Given the description of an element on the screen output the (x, y) to click on. 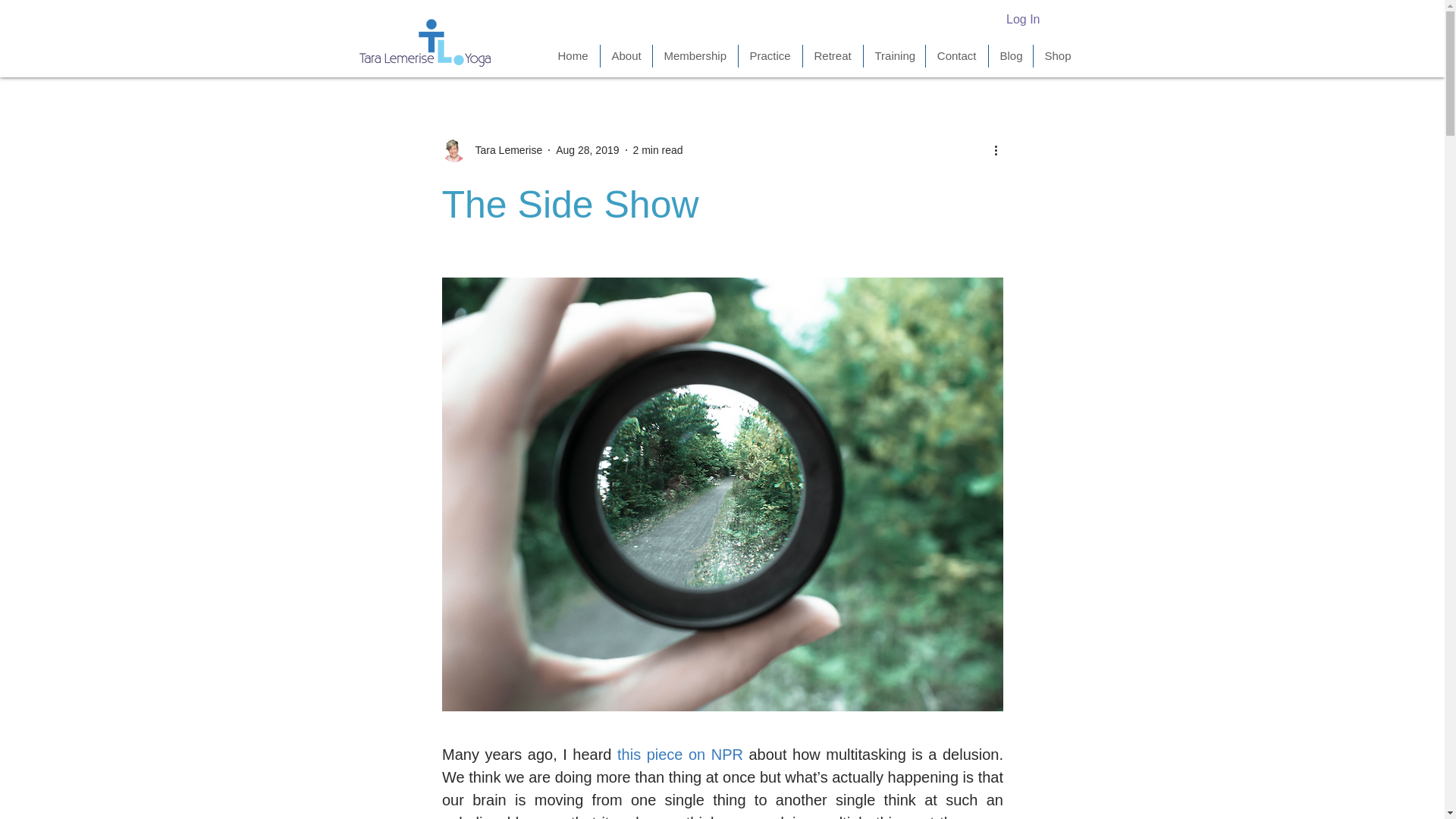
Contact (955, 56)
Tara Lemerise (491, 150)
Shop (1056, 56)
Aug 28, 2019 (587, 150)
Blog (1010, 56)
Home (572, 56)
Log In (1022, 19)
2 min read (656, 150)
this piece on NPR (679, 754)
Tara Lemerise (503, 150)
